Given the description of an element on the screen output the (x, y) to click on. 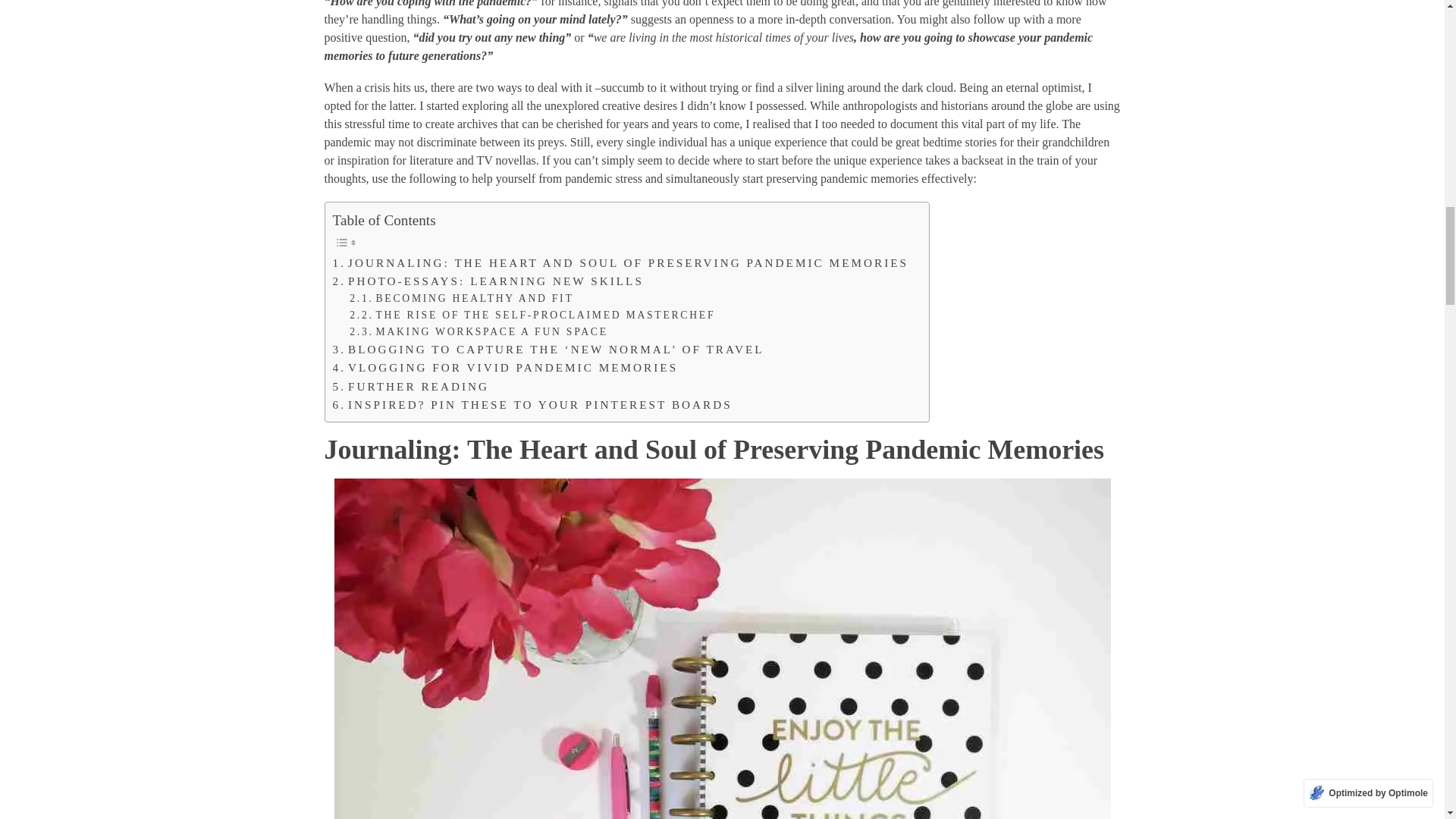
Photo-Essays: Learning New Skills (487, 280)
Making Workspace a Fun Space (478, 331)
Vlogging for Vivid Pandemic Memories (504, 367)
Becoming Healthy and Fit (461, 298)
The Rise of the Self-Proclaimed MasterChef (531, 315)
Further Reading (410, 386)
